Given the description of an element on the screen output the (x, y) to click on. 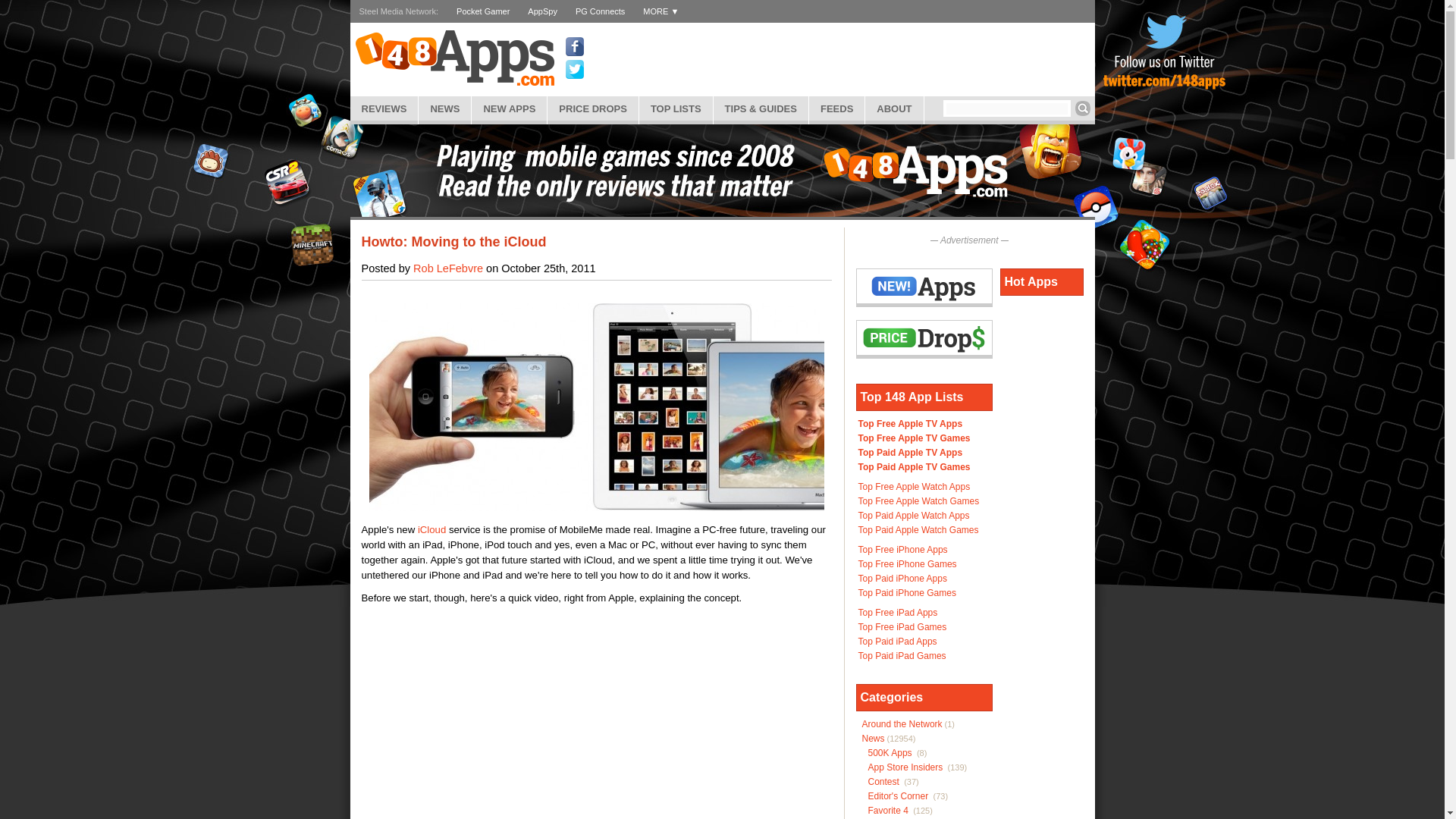
ABOUT (893, 108)
Top Paid Apple Watch Apps (914, 515)
Top Paid iPhone Apps (903, 578)
Top Free Apple Watch Games (919, 501)
New iPhone Apps (509, 108)
PG Connects (599, 10)
REVIEWS (384, 108)
TOP LISTS (676, 108)
Pocket Gamer (483, 10)
Top Paid Apple TV Apps (910, 452)
Top iPhone and iPad Apps and games (676, 108)
Click to go back to the home page (453, 57)
Howto: Moving to the iCloud (453, 241)
PRICE DROPS (593, 108)
Top Free iPhone Games (907, 563)
